Given the description of an element on the screen output the (x, y) to click on. 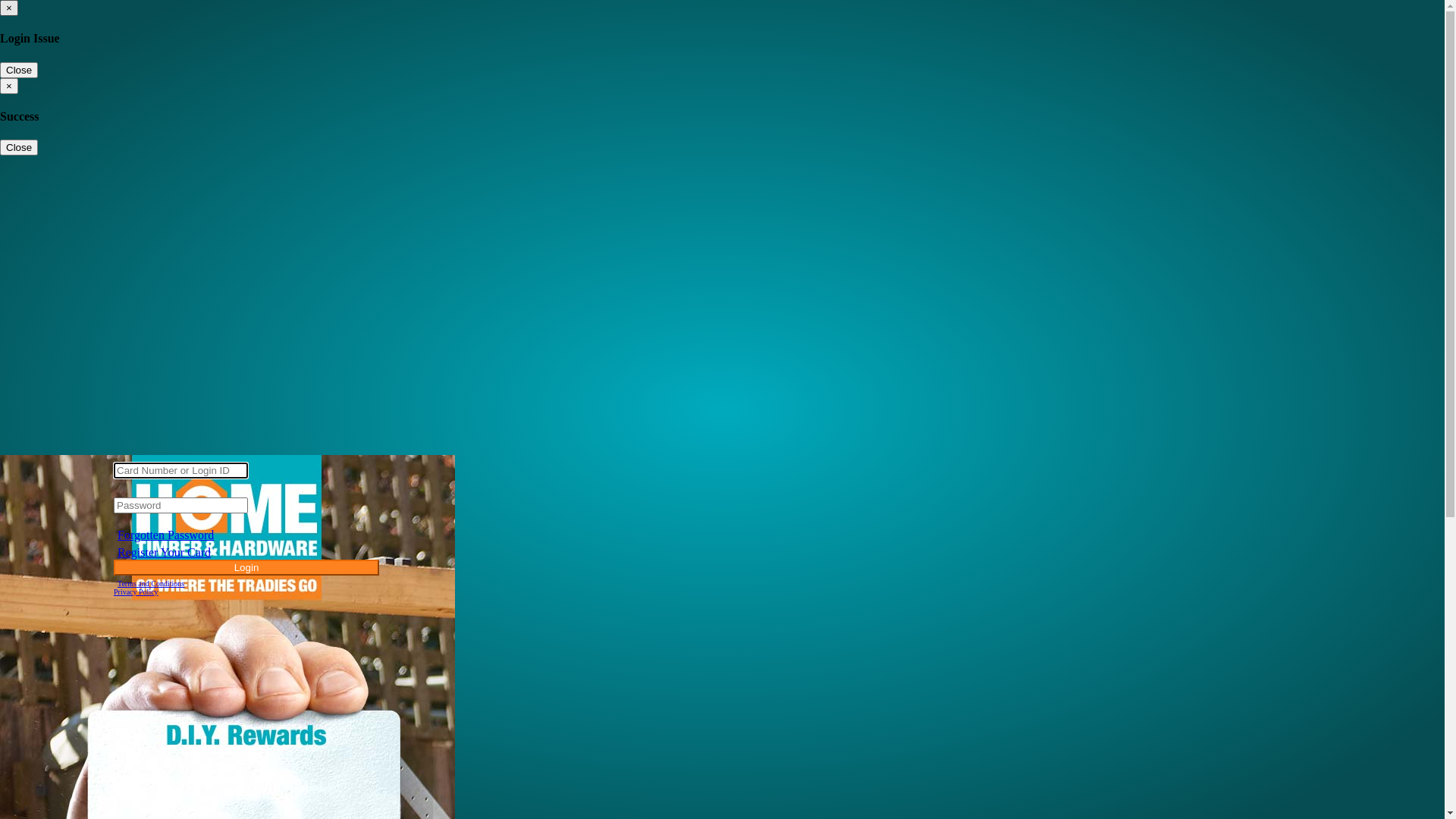
Login Element type: text (246, 567)
Close Element type: text (18, 70)
Forgotten Password Element type: text (165, 534)
Privacy Policy Element type: text (135, 591)
Terms and Conditions Element type: text (150, 583)
Close Element type: text (18, 147)
Register Your Card Element type: text (163, 552)
